Given the description of an element on the screen output the (x, y) to click on. 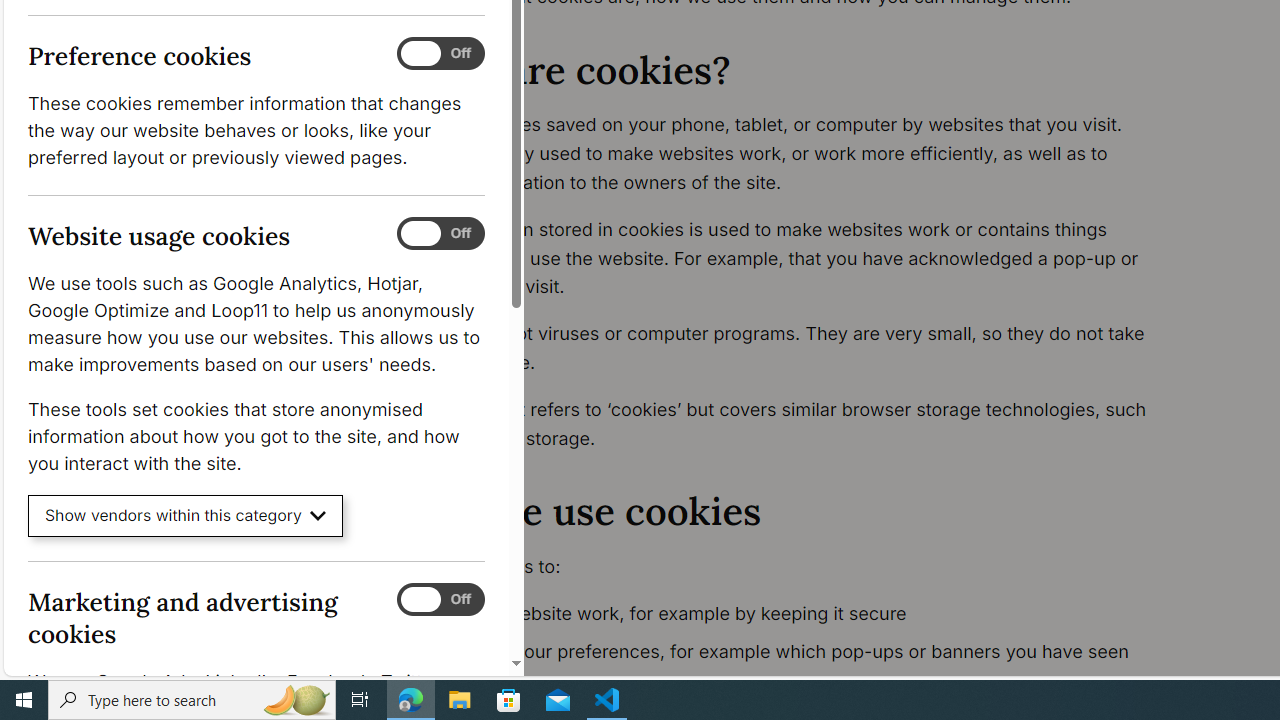
Website usage cookies (440, 233)
Marketing and advertising cookies (440, 599)
make our website work, for example by keeping it secure (796, 614)
Preference cookies (440, 53)
Show vendors within this category (185, 516)
